Given the description of an element on the screen output the (x, y) to click on. 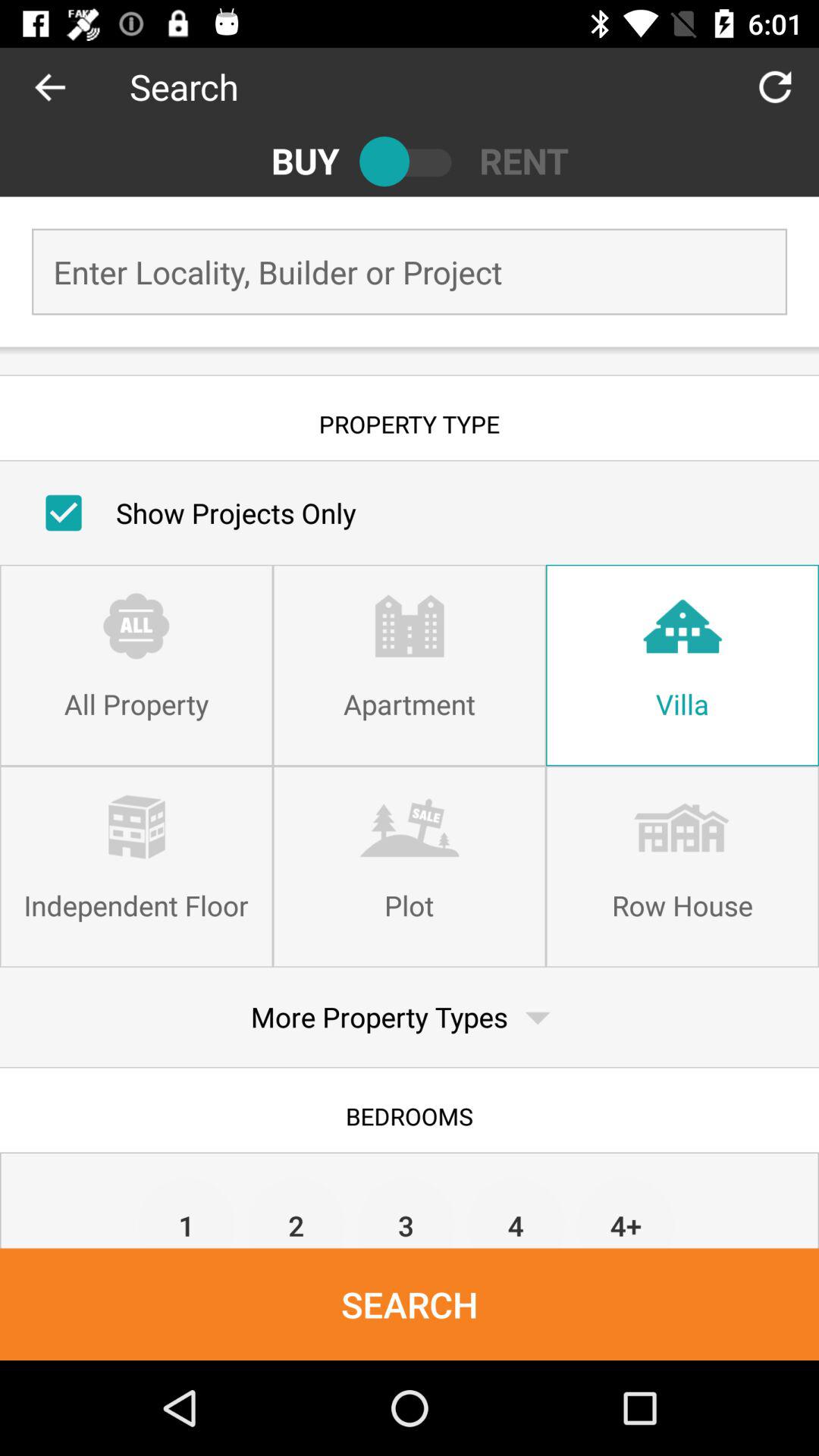
flip until 3 item (406, 1212)
